Given the description of an element on the screen output the (x, y) to click on. 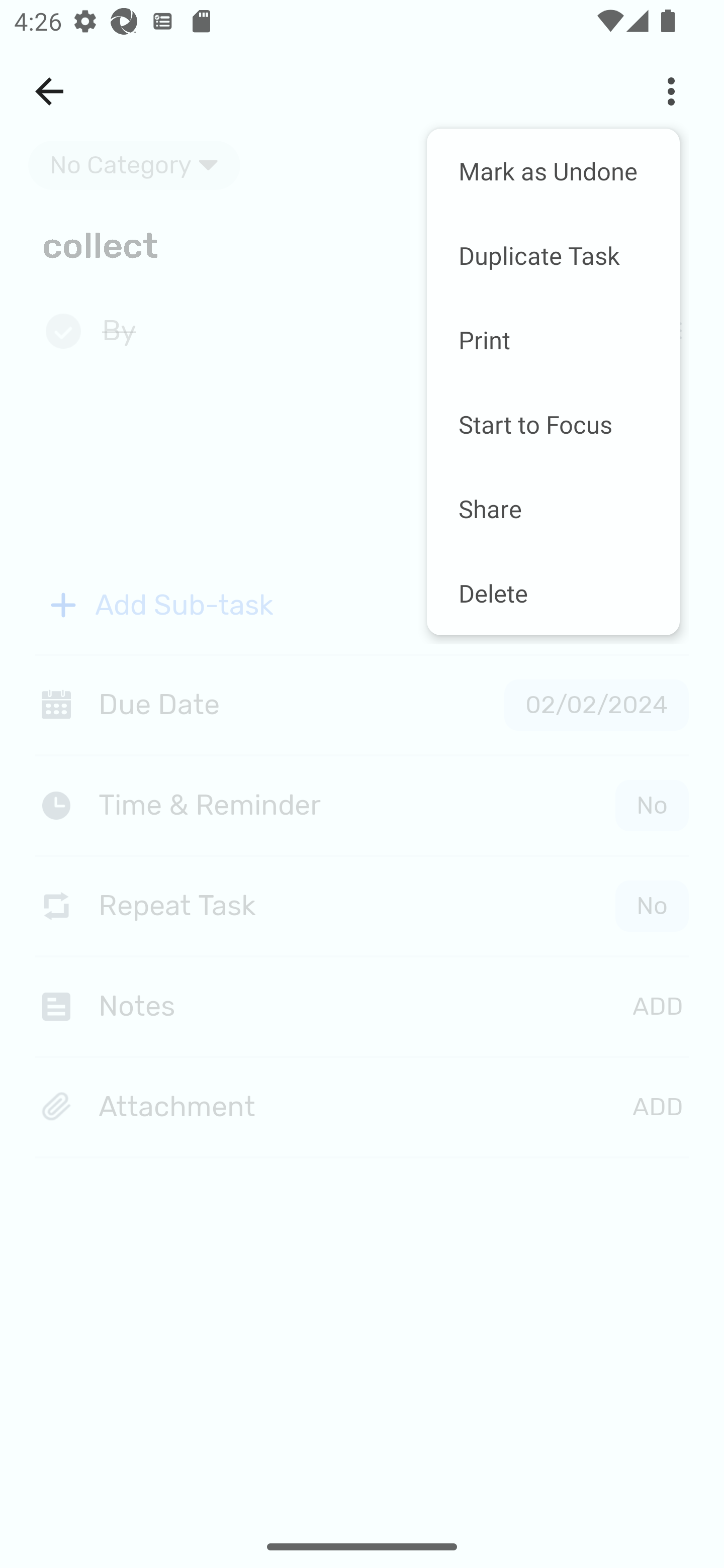
Mark as Undone (553, 170)
Duplicate Task (553, 255)
Print (553, 339)
Start to Focus (553, 423)
Share (553, 507)
Delete (553, 592)
